Given the description of an element on the screen output the (x, y) to click on. 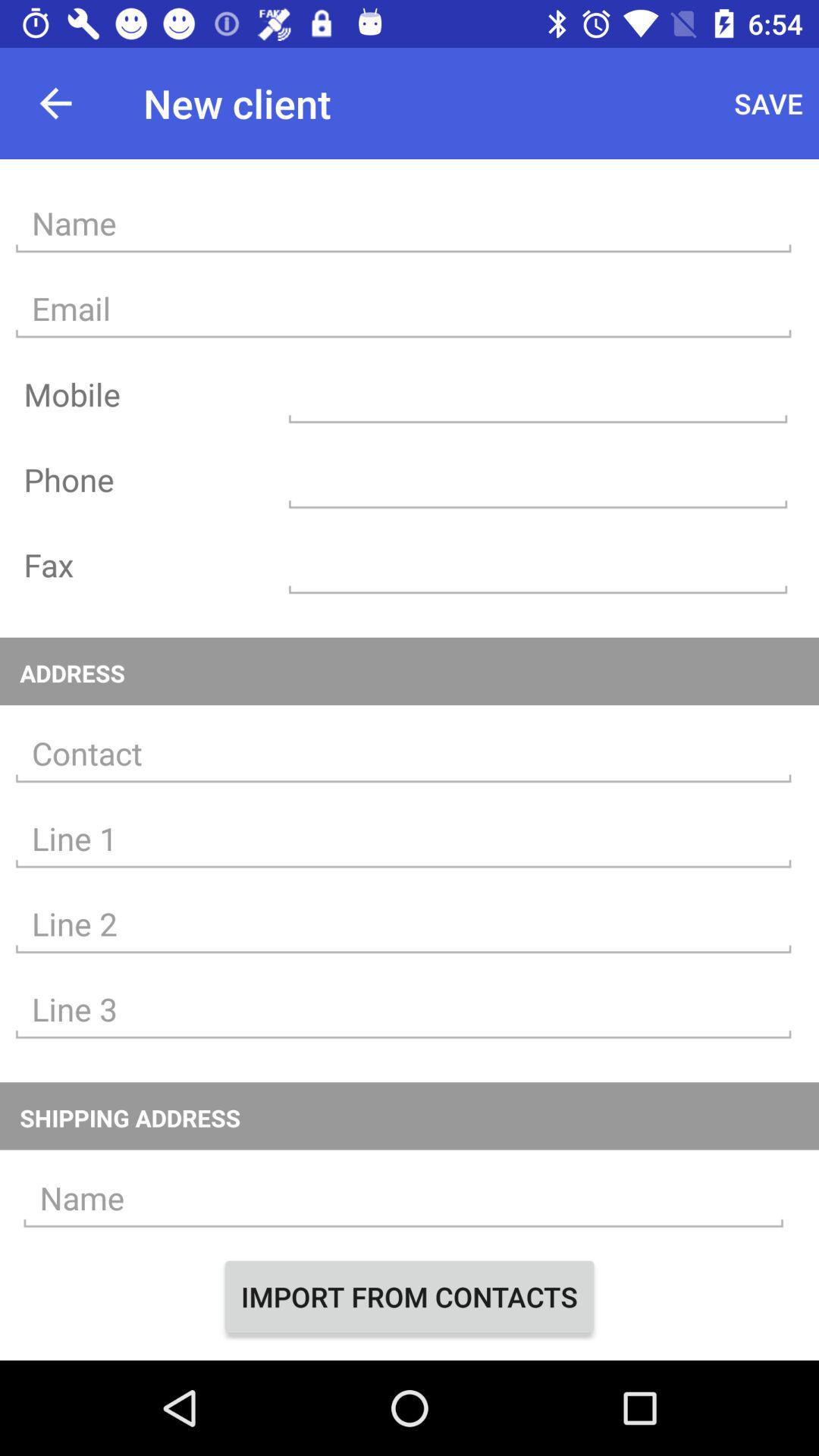
input information (403, 1009)
